Given the description of an element on the screen output the (x, y) to click on. 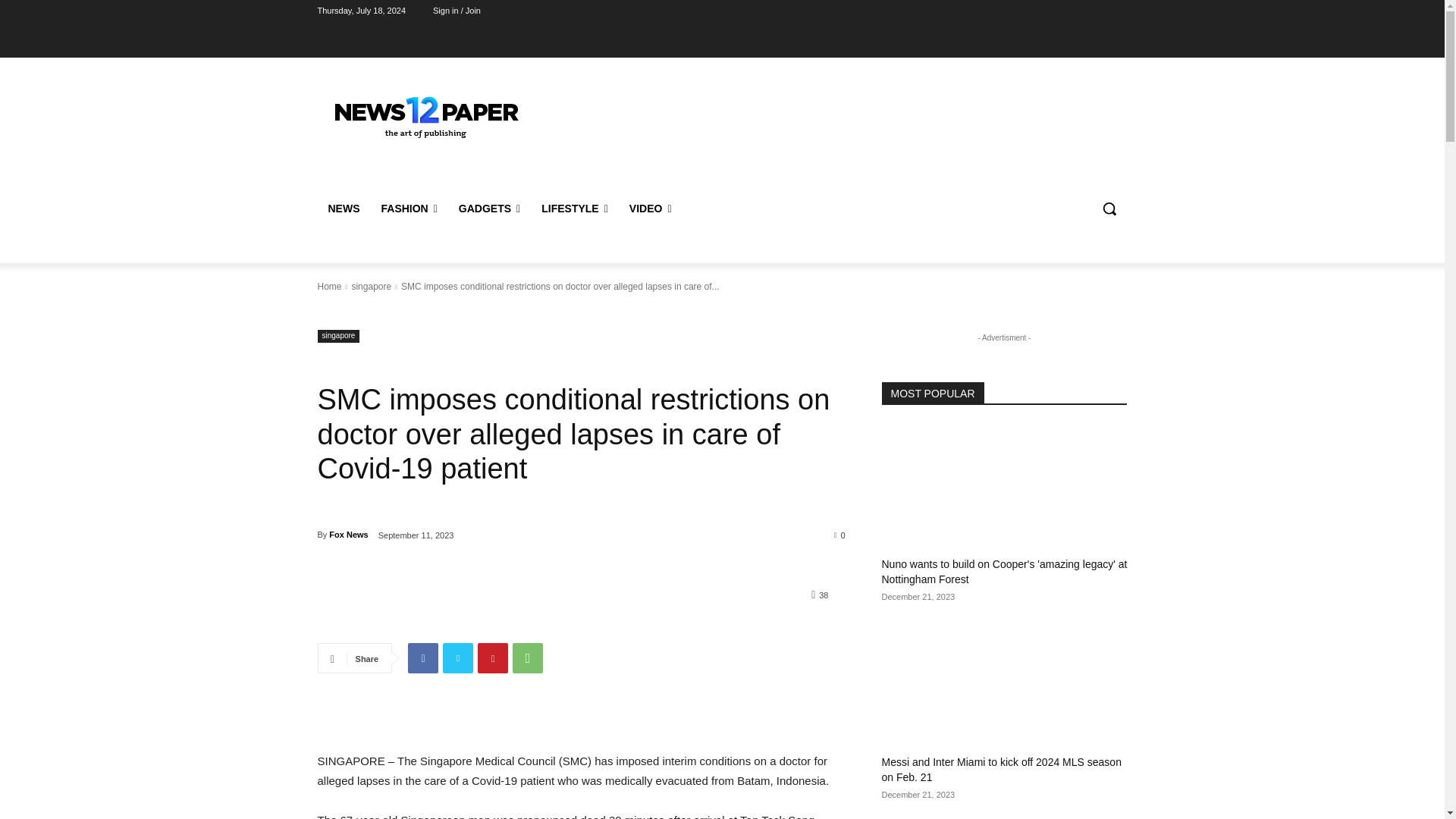
NEWS (343, 208)
FASHION (407, 208)
GADGETS (489, 208)
